Given the description of an element on the screen output the (x, y) to click on. 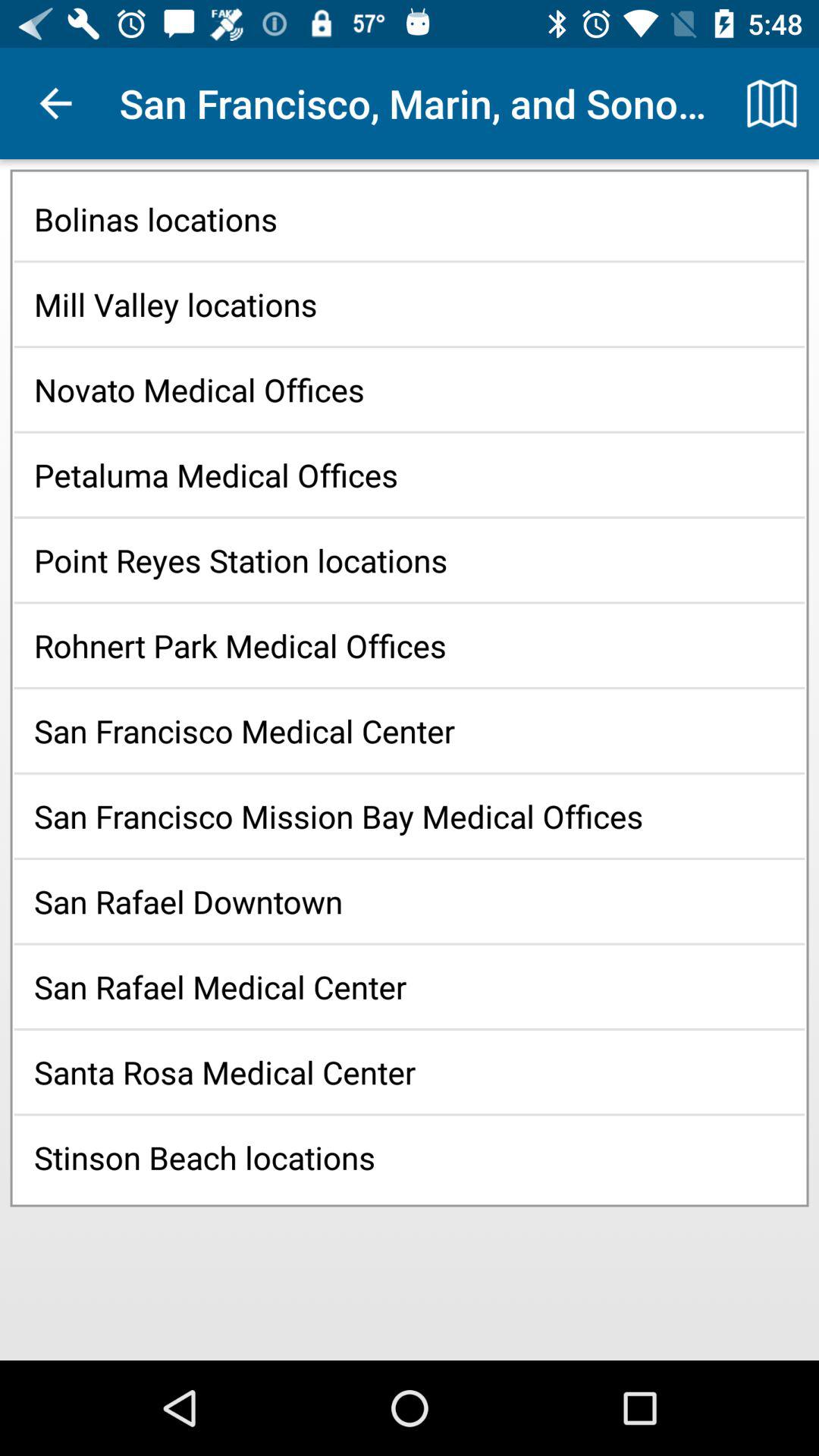
tap icon at the top right corner (771, 103)
